Given the description of an element on the screen output the (x, y) to click on. 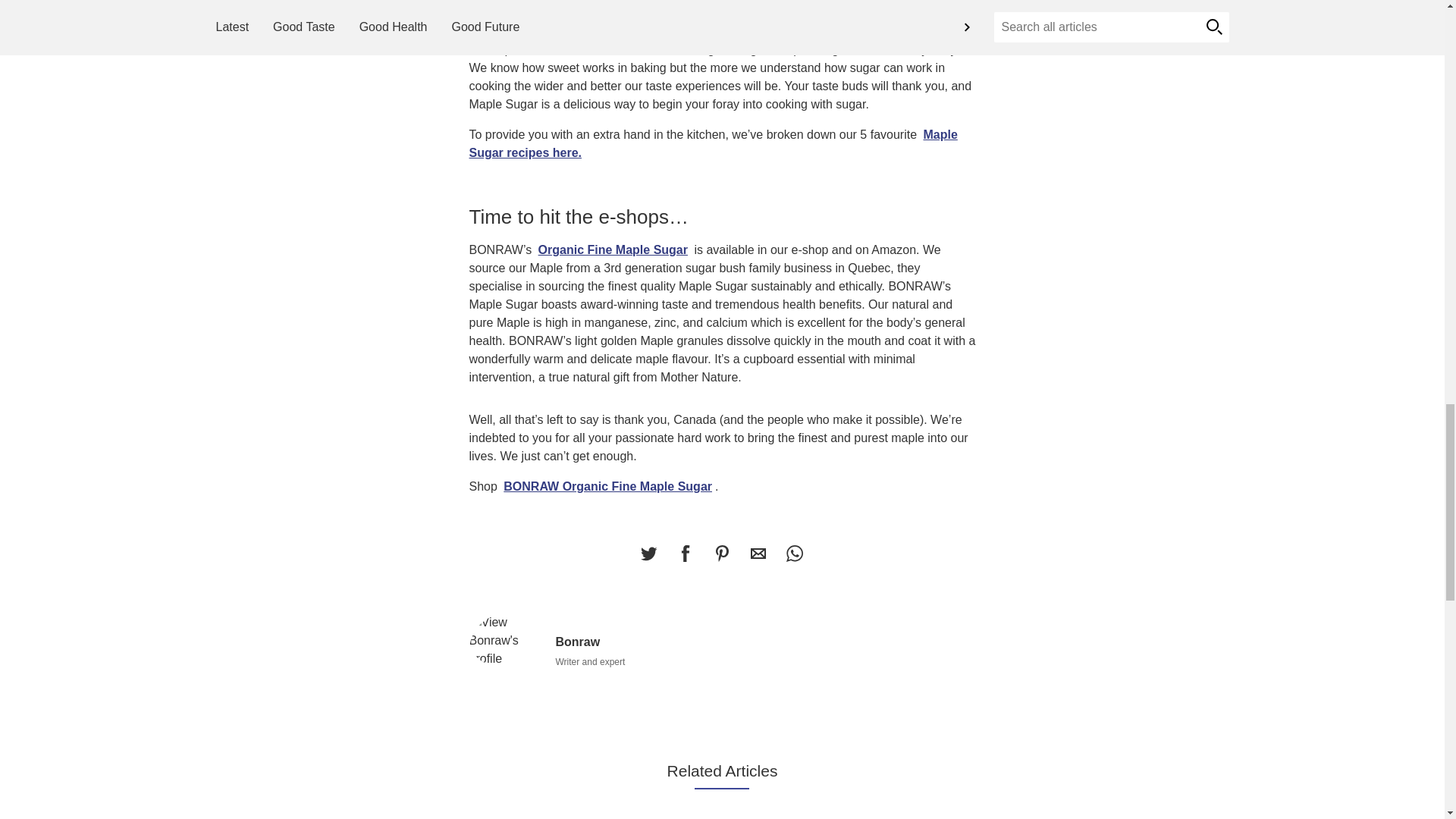
Share this by Email (757, 553)
Bonraw (505, 640)
Share this on Twitter (648, 553)
Share this on Facebook (684, 553)
Share this on WhatsApp (793, 553)
Share this on Pinterest (721, 553)
